Given the description of an element on the screen output the (x, y) to click on. 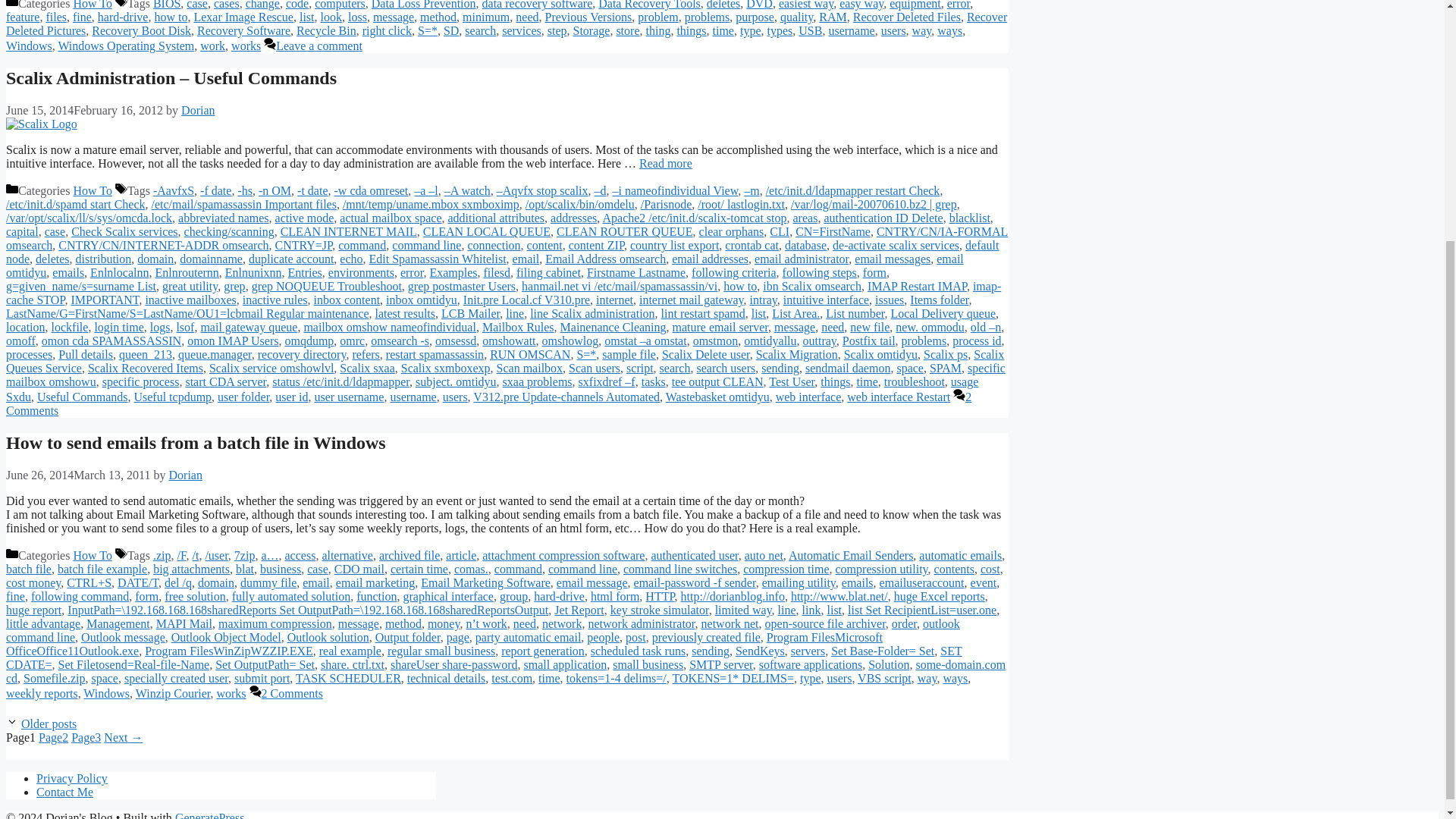
code (296, 4)
method (438, 16)
minimum (486, 16)
View all posts by Dorian (197, 110)
deletes (722, 4)
files (55, 16)
View all posts by Dorian (185, 474)
equipment (914, 4)
list (306, 16)
Previous (49, 723)
DVD (759, 4)
look (331, 16)
hard-drive (122, 16)
case (197, 4)
change (262, 4)
